Given the description of an element on the screen output the (x, y) to click on. 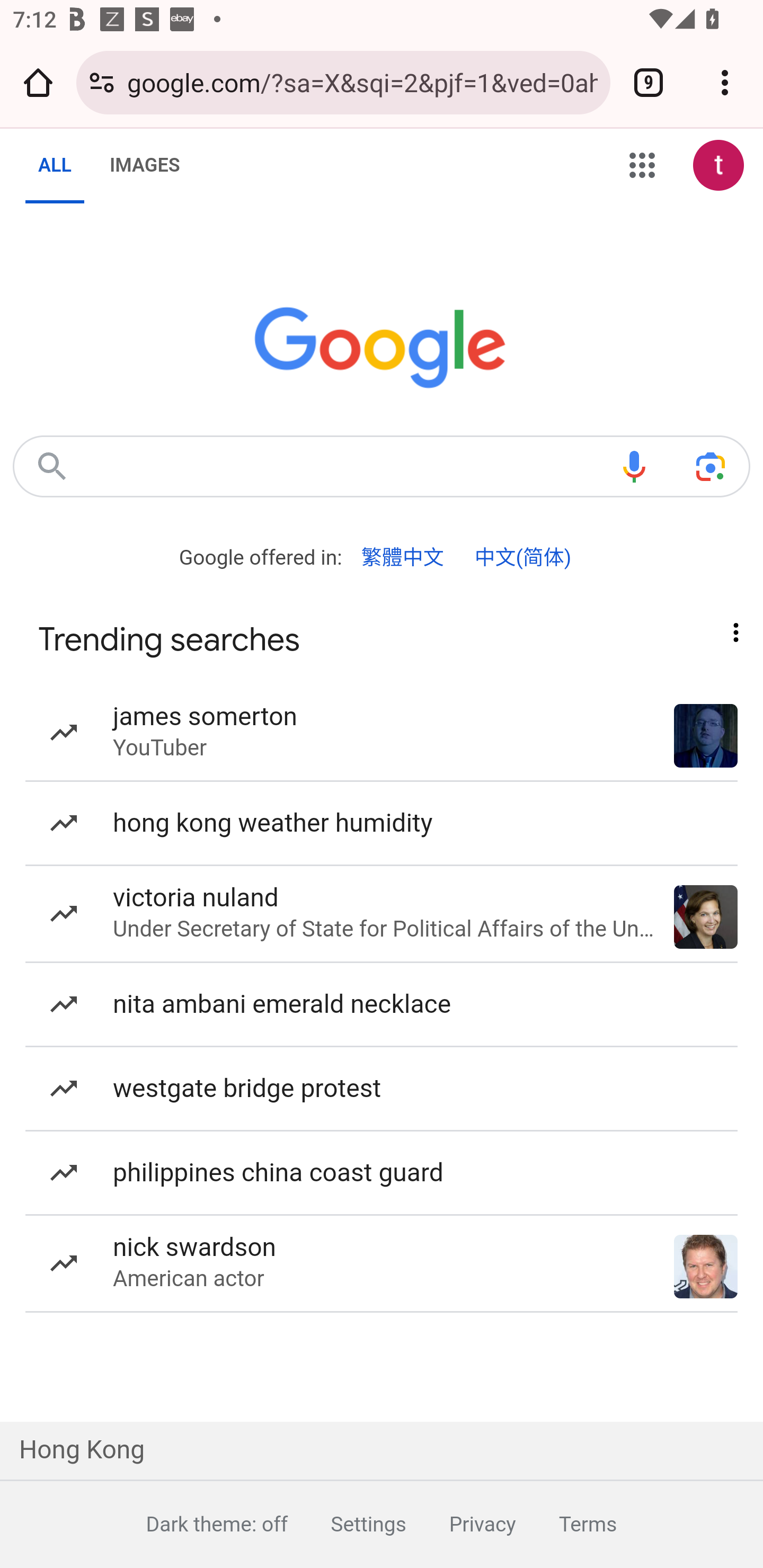
Open the home page (38, 82)
Connection is secure (101, 82)
Switch or close tabs (648, 82)
Customize and control Google Chrome (724, 82)
IMAGES (144, 165)
Google apps (641, 165)
Google Search (52, 466)
Search using your camera or photos (710, 466)
繁體中文 (402, 557)
中文(简体) (522, 557)
james somerton YouTuber james somerton YouTuber (381, 733)
hong kong weather humidity (381, 823)
nita ambani emerald necklace (381, 1004)
westgate bridge protest (381, 1089)
philippines china coast guard (381, 1173)
Dark theme: off (195, 1523)
Settings (346, 1523)
Privacy (460, 1523)
Terms (566, 1523)
